Given the description of an element on the screen output the (x, y) to click on. 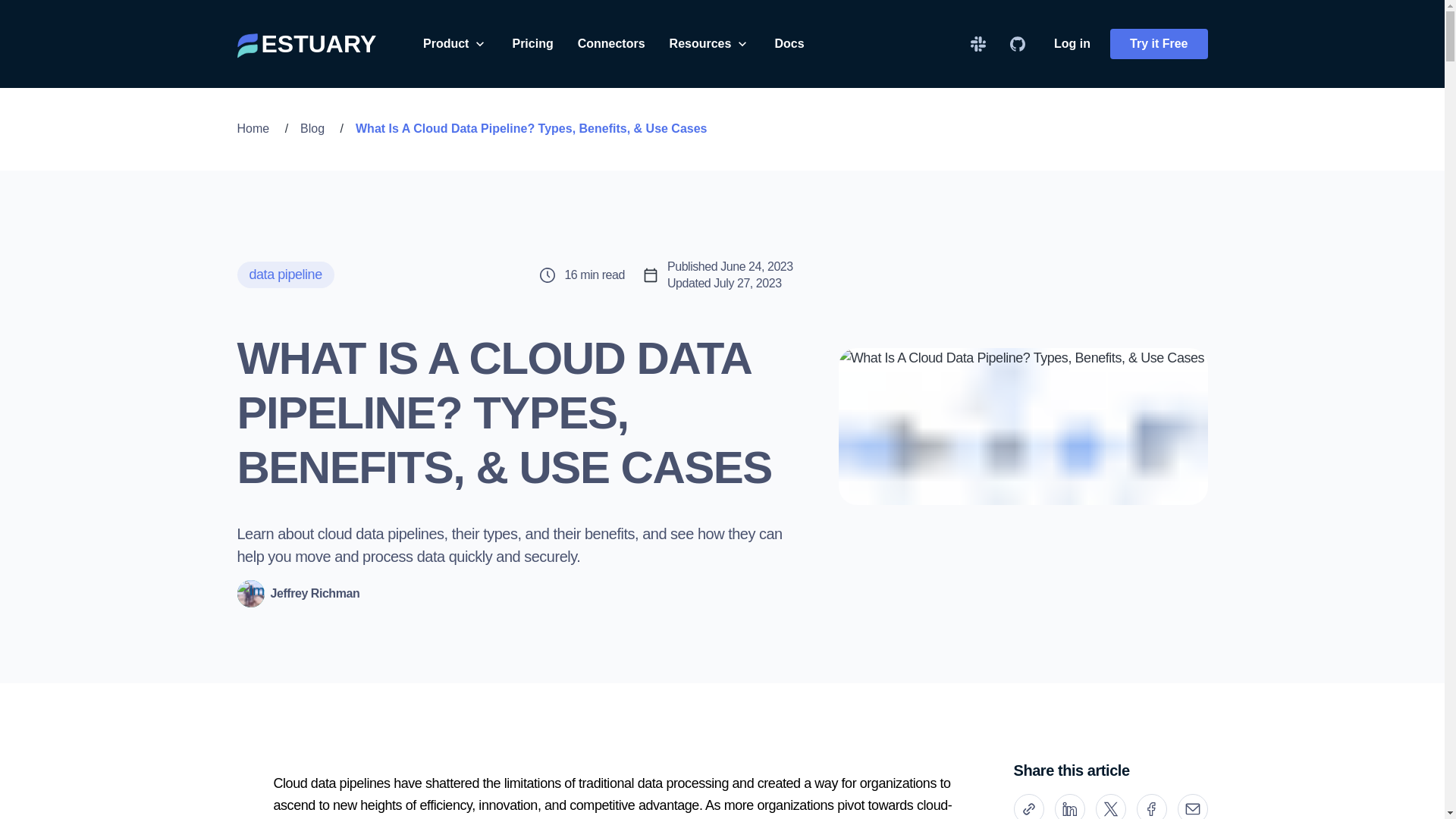
Blog (311, 128)
Product (454, 43)
Connectors (611, 43)
Jeffrey Richman (297, 593)
Log in (1071, 43)
Docs (788, 43)
Pricing (531, 43)
Home (252, 128)
Try it Free (1158, 43)
Resources (710, 43)
